Given the description of an element on the screen output the (x, y) to click on. 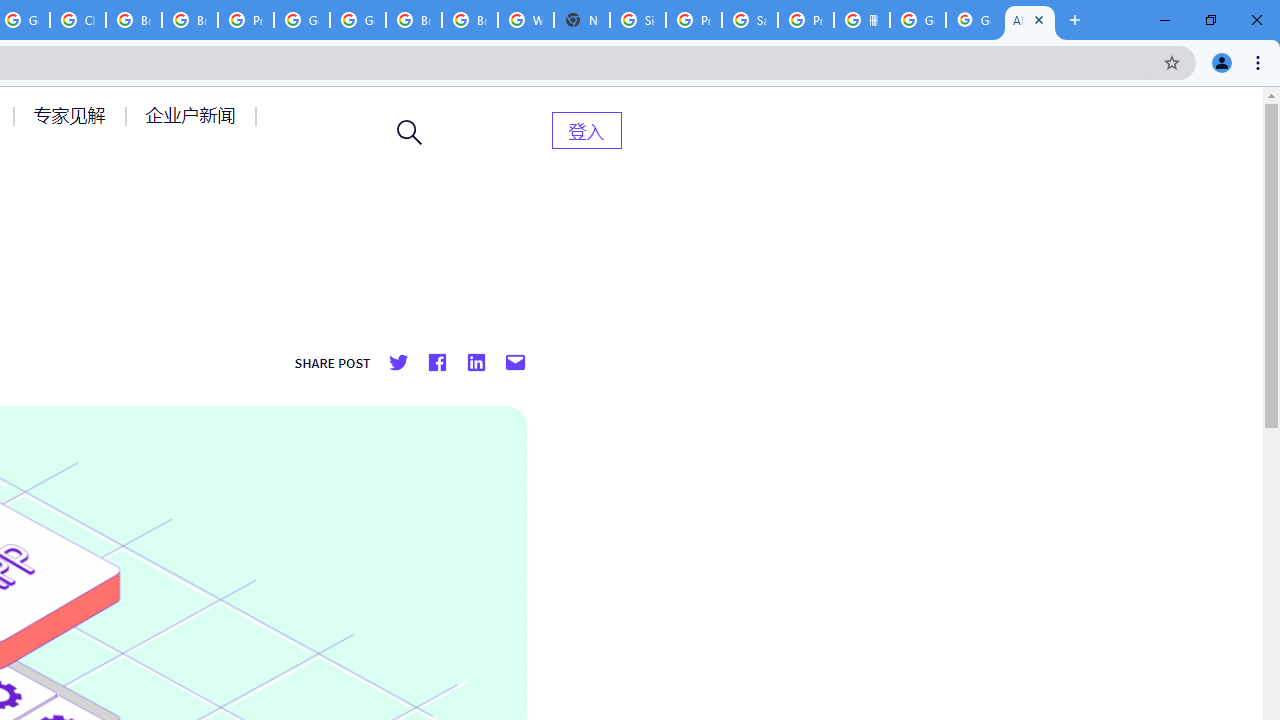
Share on Linkedin (475, 363)
AutomationID: menu-item-82399 (586, 129)
AutomationID: menu-item-77764 (72, 115)
Share on twitter (397, 363)
Sign in - Google Accounts (637, 20)
